Given the description of an element on the screen output the (x, y) to click on. 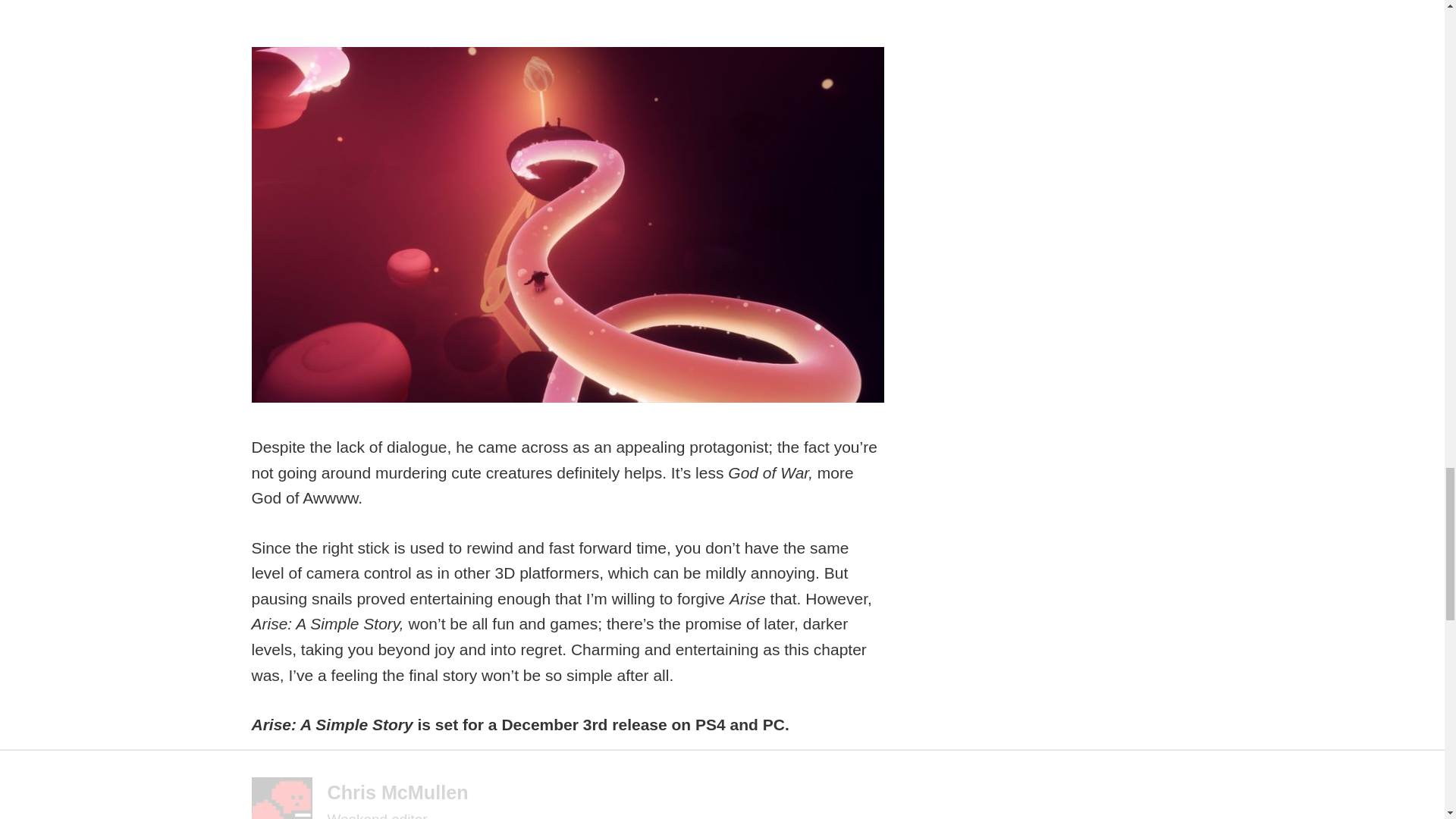
Chris McMullen (397, 792)
Posts by Chris McMullen (397, 792)
